Given the description of an element on the screen output the (x, y) to click on. 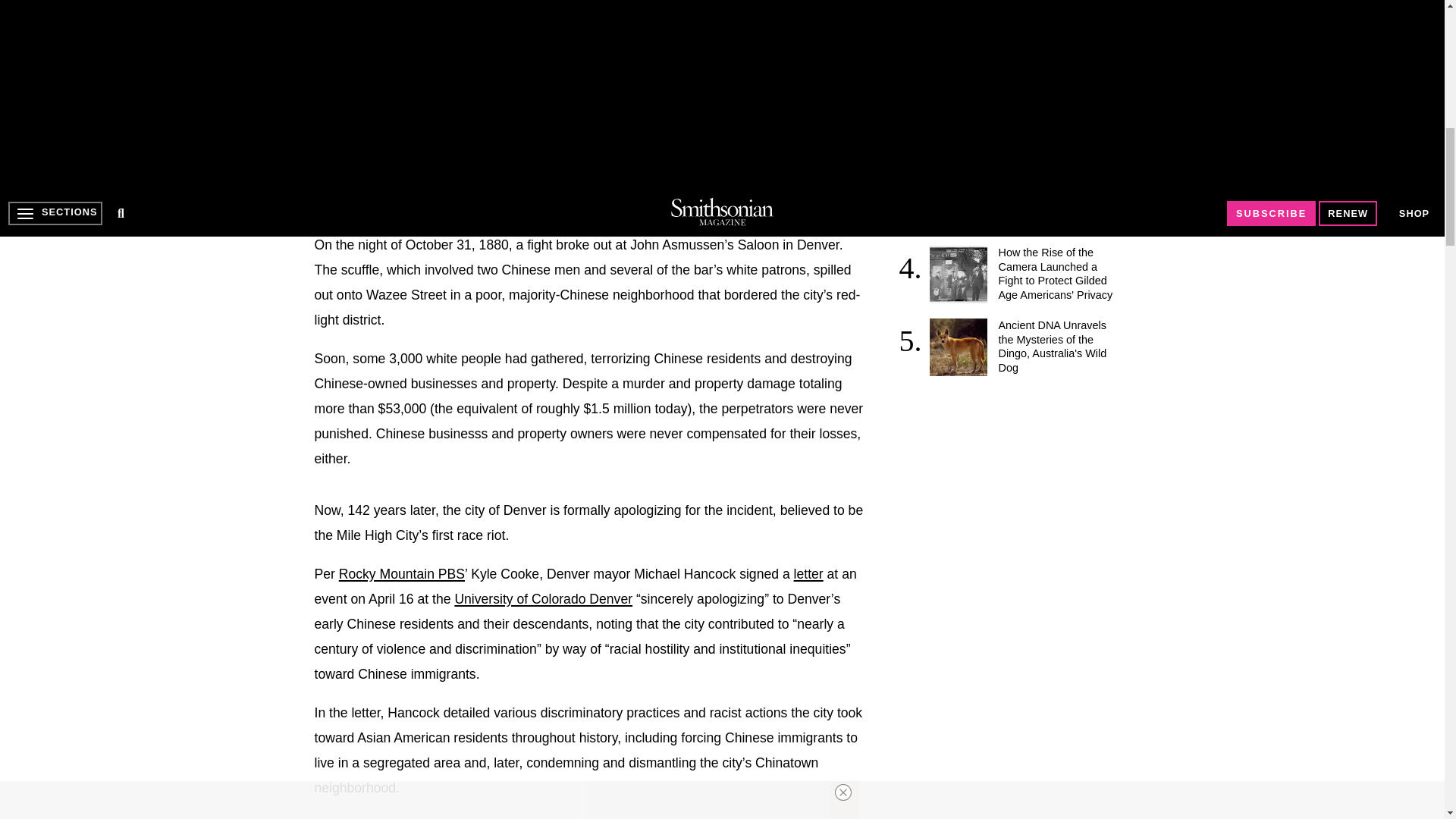
Pocket (480, 199)
WhatsApp (450, 199)
Print (511, 199)
3rd party ad content (1015, 489)
Twitter (357, 199)
Reddit (418, 199)
LinkedIn (387, 199)
Facebook (325, 199)
Email (542, 199)
